Given the description of an element on the screen output the (x, y) to click on. 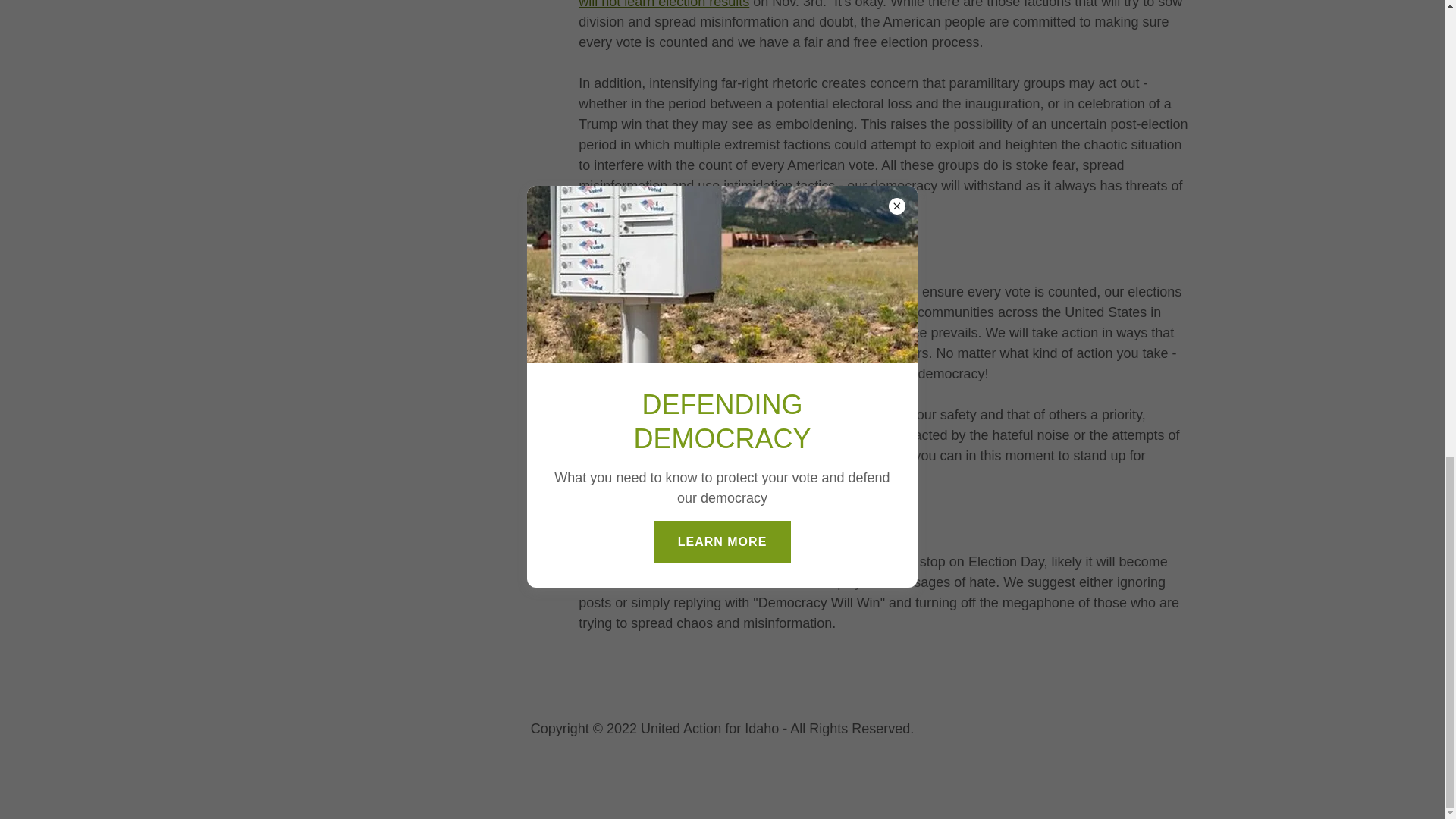
we will not learn election results (875, 4)
